Given the description of an element on the screen output the (x, y) to click on. 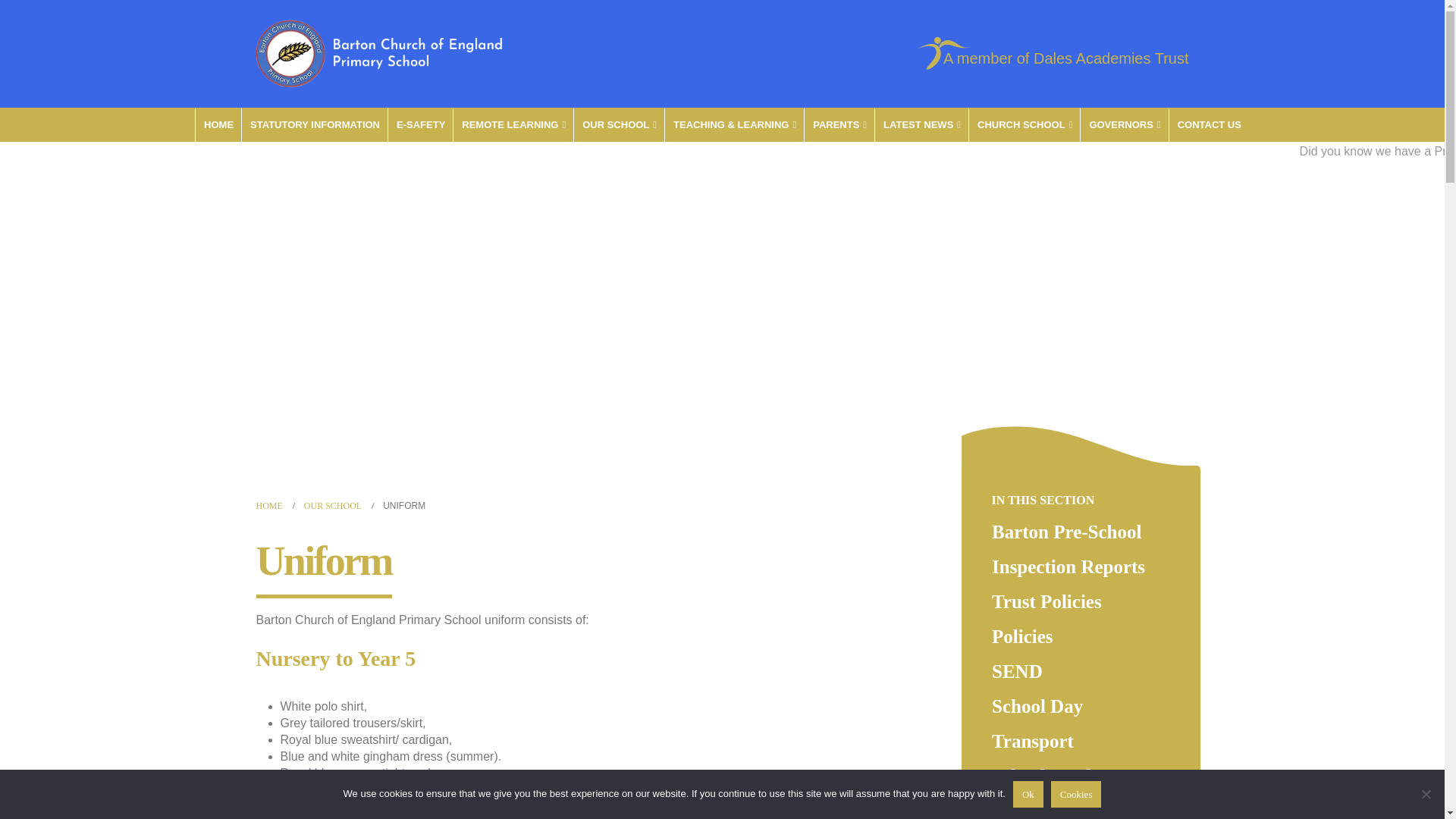
OUR SCHOOL (618, 124)
No (1425, 793)
REMOTE LEARNING (512, 124)
HOME (218, 124)
E-SAFETY (420, 124)
STATUTORY INFORMATION (314, 124)
Go to Home Page (269, 505)
